Given the description of an element on the screen output the (x, y) to click on. 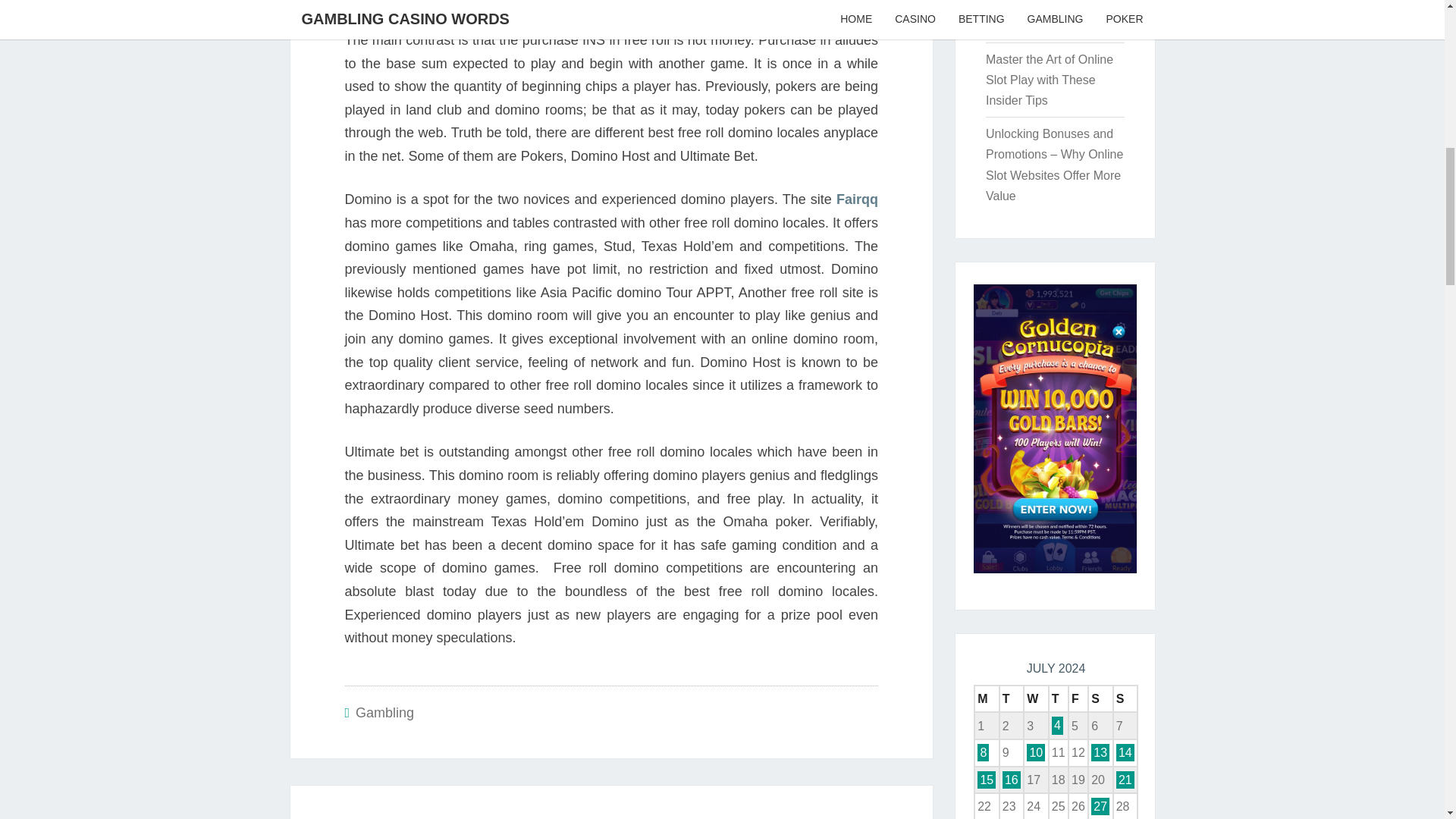
Wednesday (771, 816)
Monday (1035, 698)
Fairqq (986, 698)
21 (856, 199)
14 (1125, 779)
Tuesday (1125, 752)
Sunday (1011, 698)
15 (1125, 698)
10 (985, 779)
16 (1035, 752)
27 (1011, 779)
13 (1099, 805)
